Given the description of an element on the screen output the (x, y) to click on. 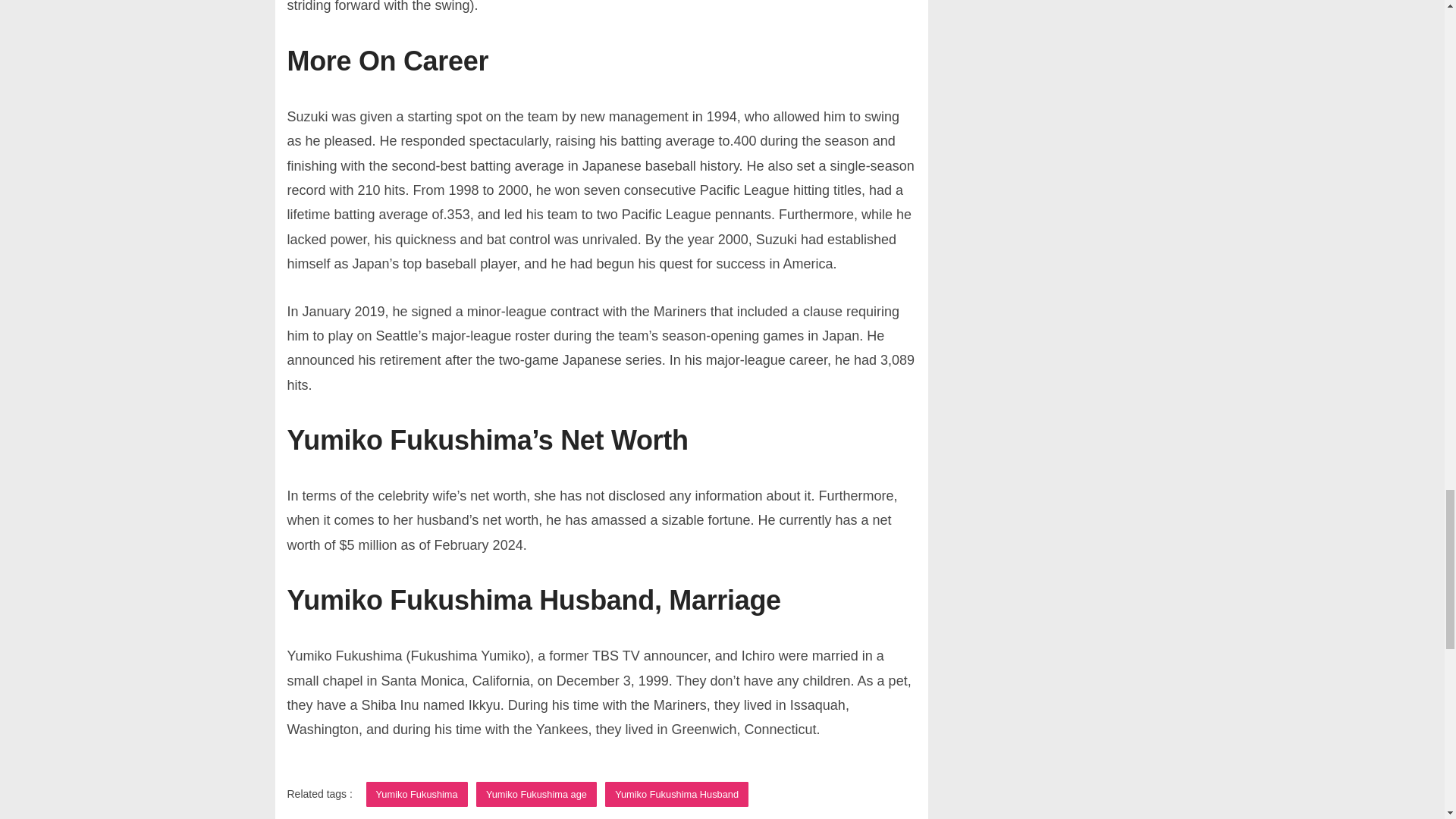
Yumiko Fukushima Husband (676, 794)
Yumiko Fukushima (416, 794)
Yumiko Fukushima age (536, 794)
